Given the description of an element on the screen output the (x, y) to click on. 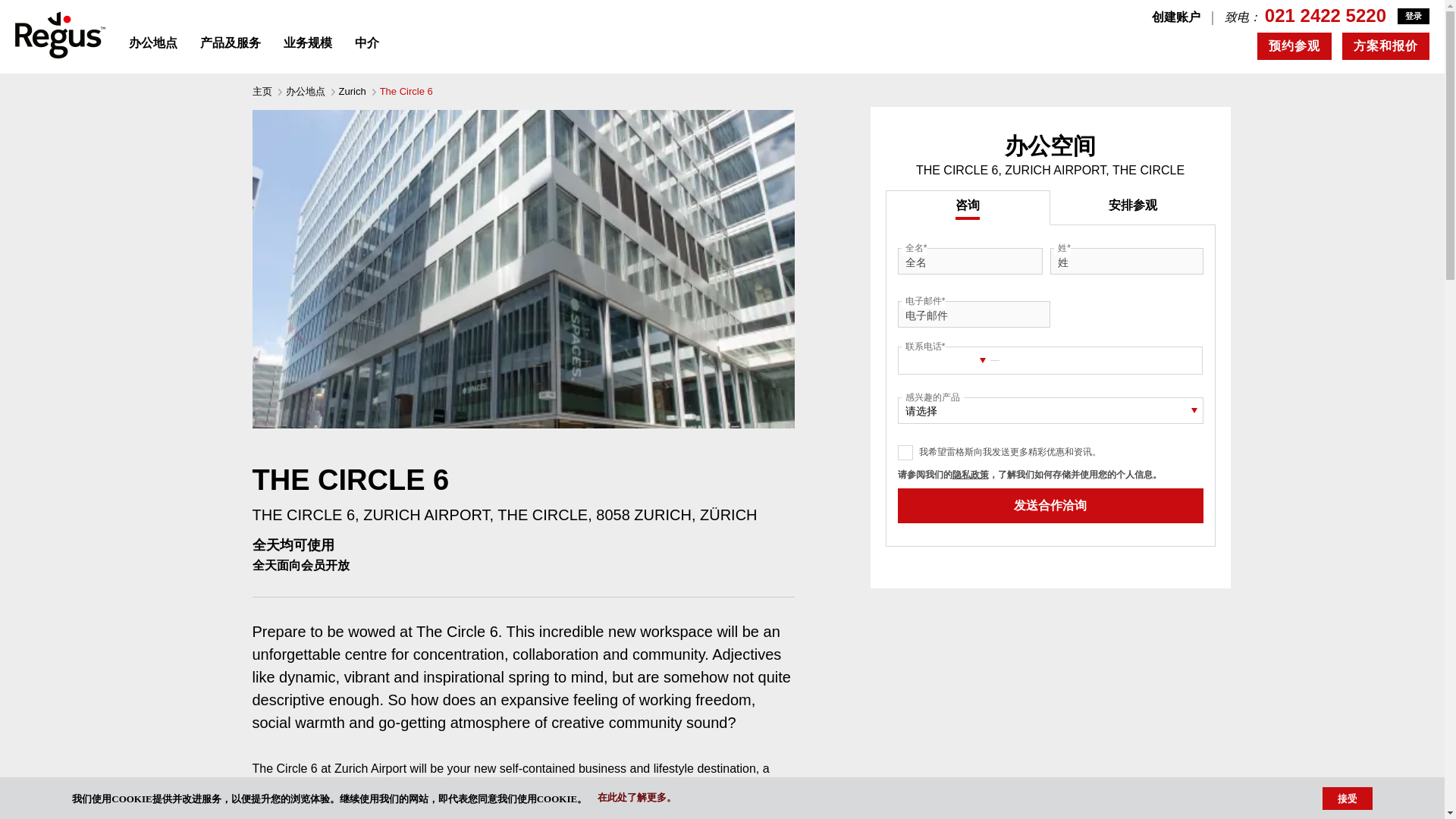
021 2422 5220 (1325, 15)
on (905, 452)
Zurich (351, 91)
openCentreEnquireFrom (16, 9)
